Given the description of an element on the screen output the (x, y) to click on. 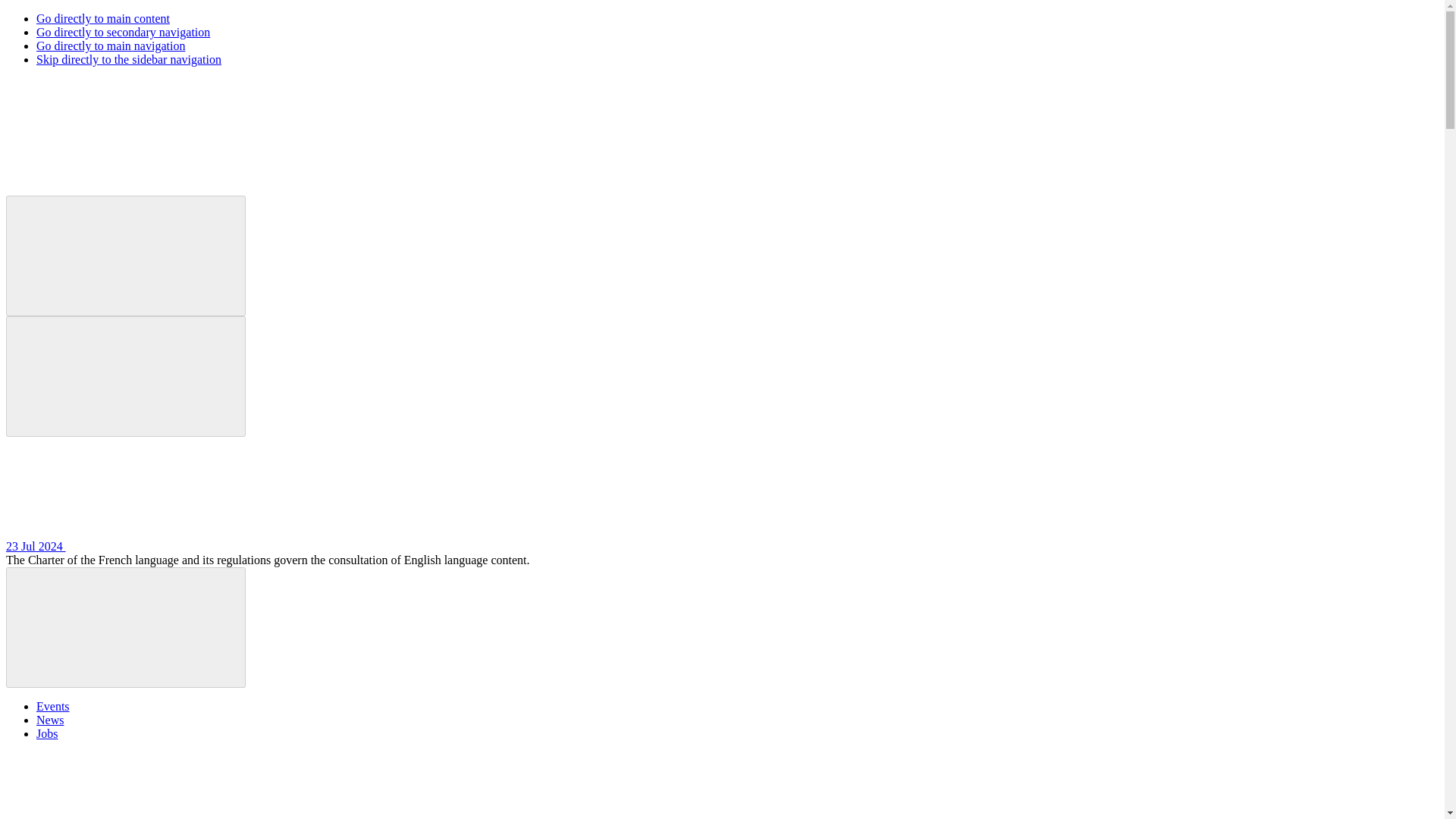
23 Jul 2024 (149, 545)
Jobs (47, 733)
Go directly to secondary navigation (122, 31)
News (50, 719)
Go directly to main navigation (110, 45)
Go directly to main content (103, 18)
Events (52, 706)
Skip directly to the sidebar navigation (128, 59)
